Given the description of an element on the screen output the (x, y) to click on. 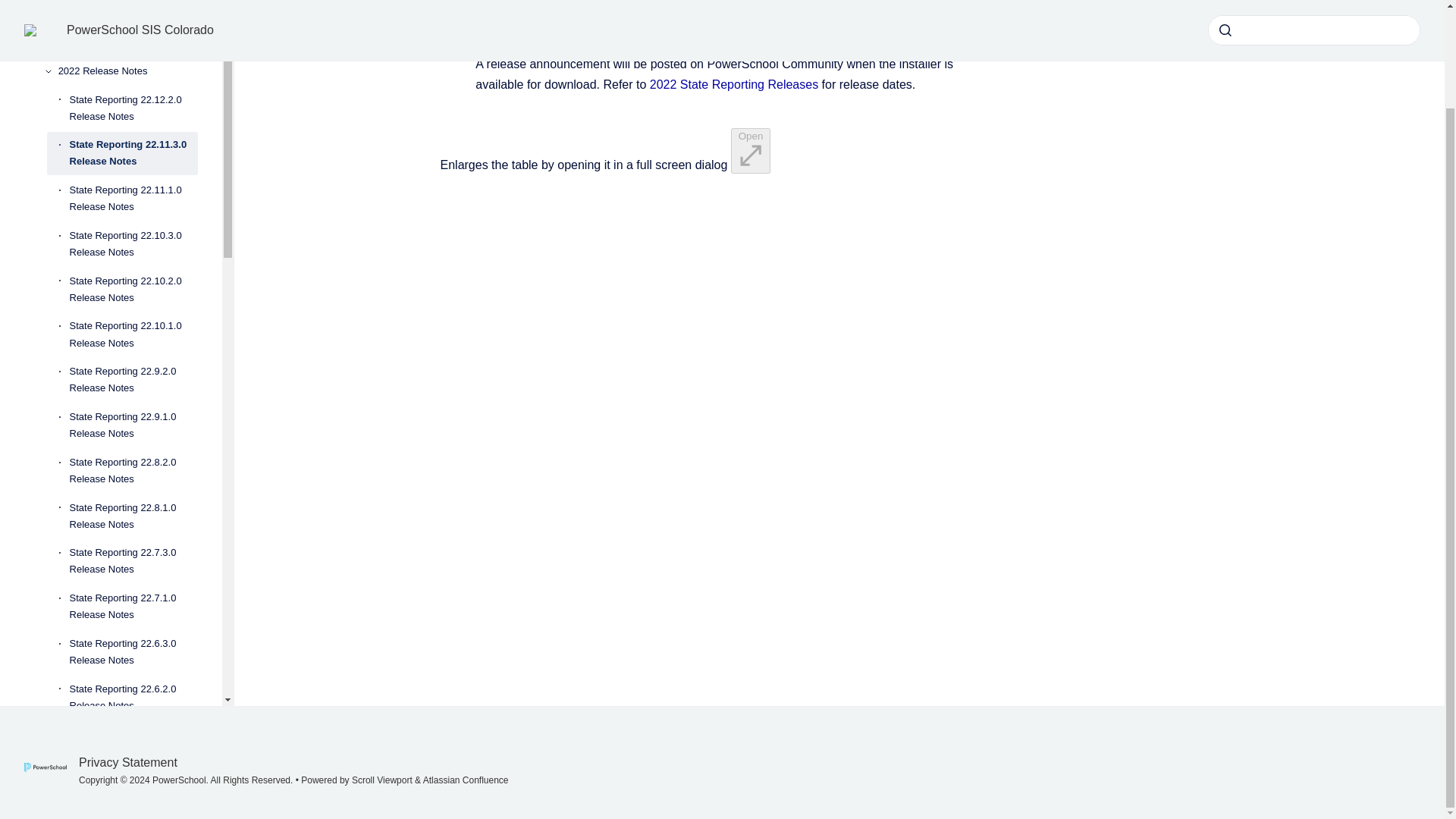
State Reporting 22.12.2.0 Release Notes (133, 108)
State Reporting 22.6.2.0 Release Notes (133, 697)
State Reporting 22.5.3.0 Release Notes (133, 787)
State Reporting 22.8.1.0 Release Notes (133, 516)
State Reporting 22.7.3.0 Release Notes (133, 561)
State Reporting 22.11.3.0 Release Notes (133, 153)
State Reporting 22.6.3.0 Release Notes (133, 651)
2023 Release Notes (128, 42)
State Reporting 22.10.1.0 Release Notes (133, 334)
State Reporting 22.8.2.0 Release Notes (133, 470)
State Reporting 22.10.3.0 Release Notes (133, 243)
State Reporting 22.11.1.0 Release Notes (133, 198)
State Reporting 22.9.1.0 Release Notes (133, 425)
2024 Release Notes (128, 13)
State Reporting 22.6.1.0 Release Notes (133, 742)
